Given the description of an element on the screen output the (x, y) to click on. 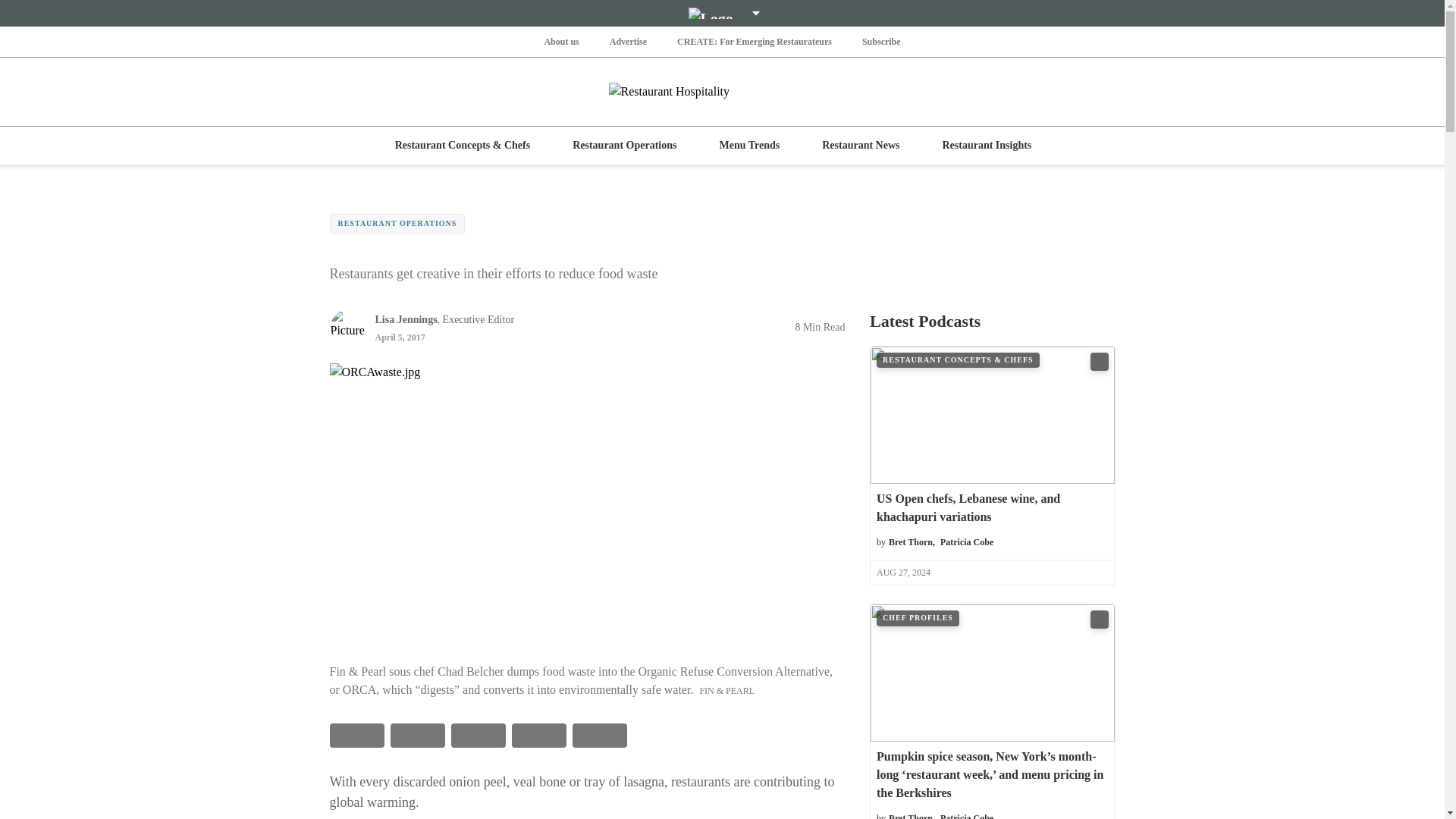
About us (560, 41)
Advertise (628, 41)
Subscribe (881, 41)
Restaurant Hospitality (721, 91)
Picture of Lisa Jennings (347, 326)
CREATE: For Emerging Restaurateurs (754, 41)
